Given the description of an element on the screen output the (x, y) to click on. 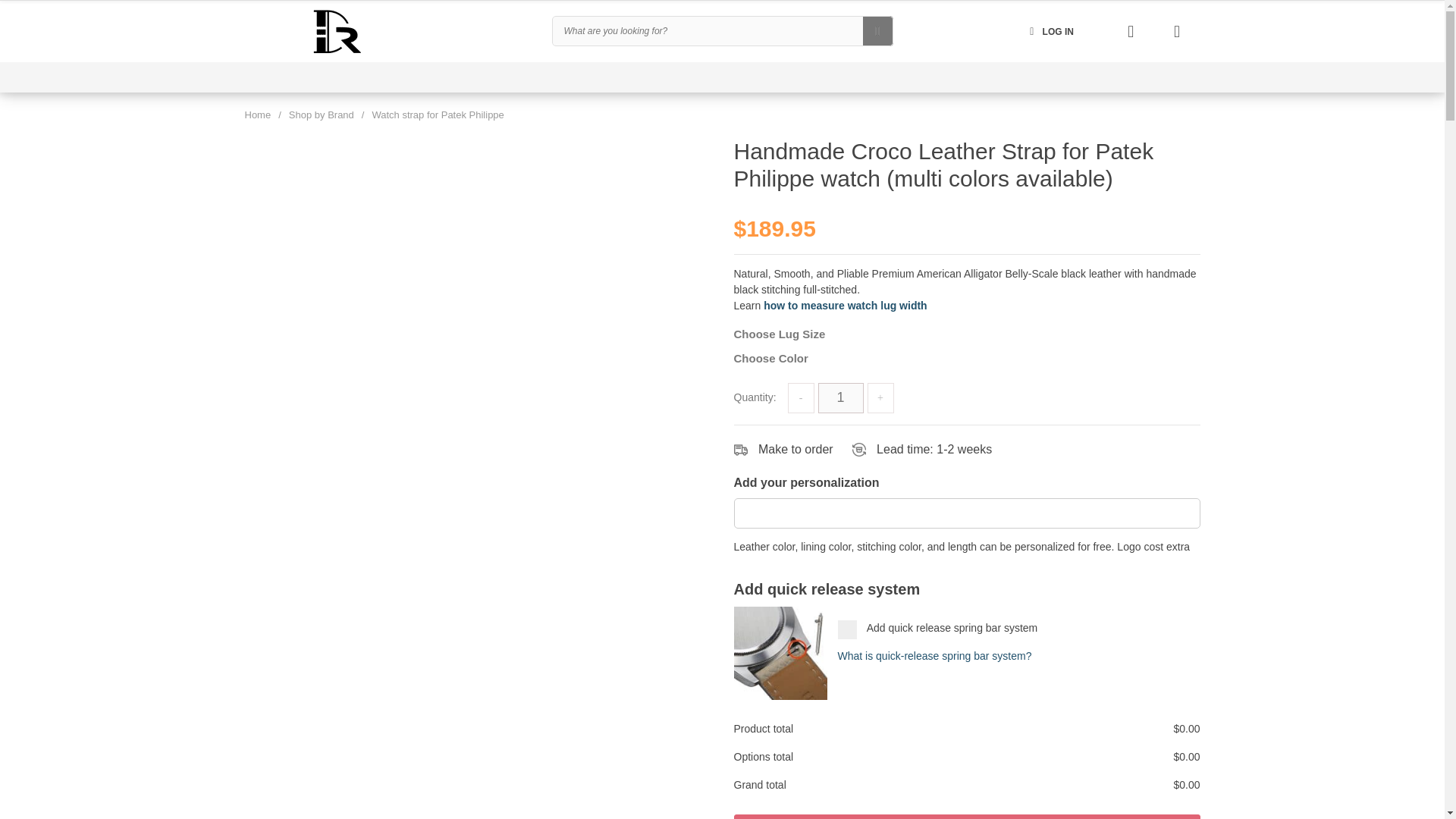
Wishlist (1130, 30)
Log in (1049, 30)
1 (840, 397)
Qty (840, 397)
LOG IN (1049, 30)
